Given the description of an element on the screen output the (x, y) to click on. 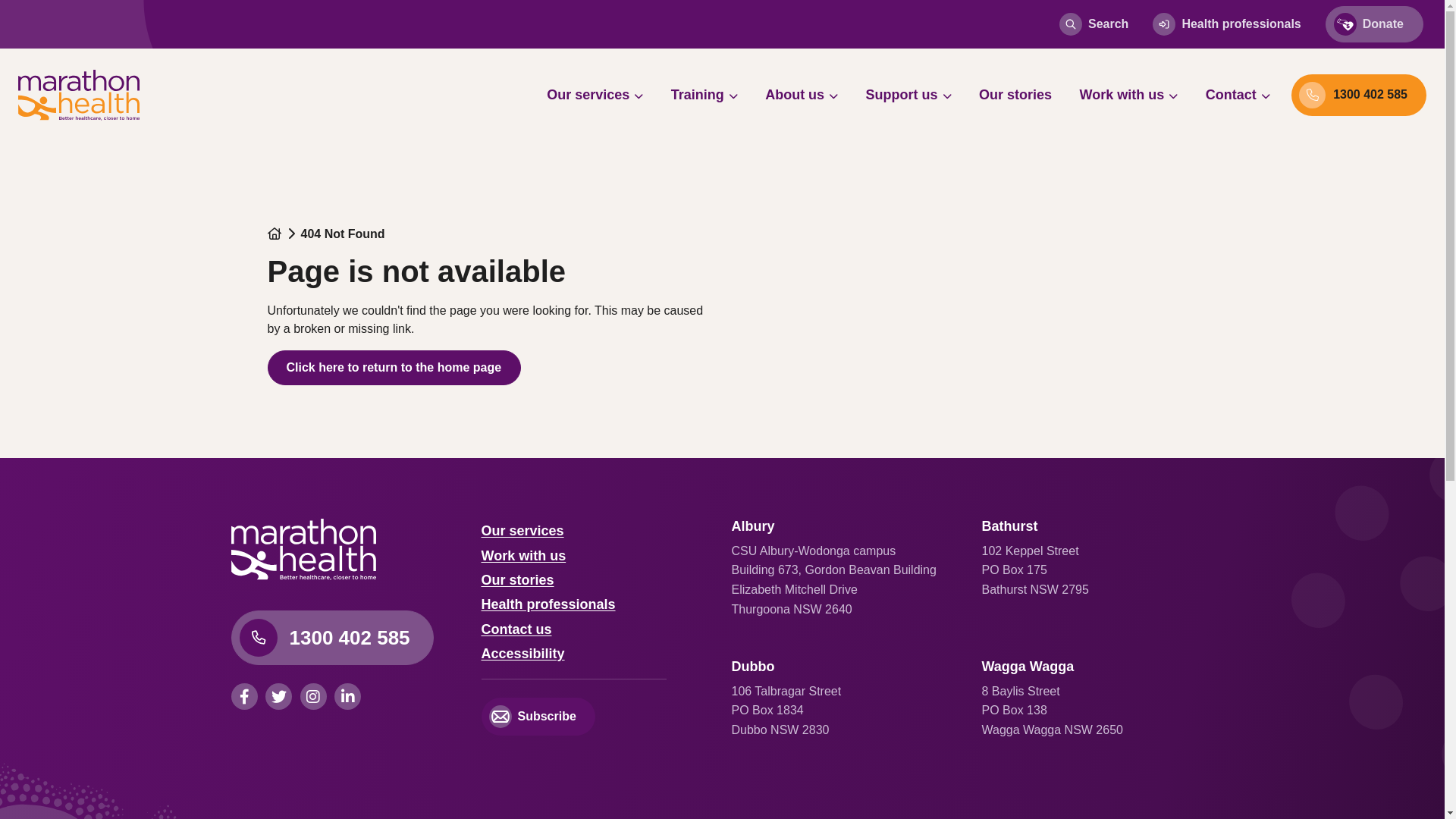
Click here to return to the home page Element type: text (393, 367)
Our stories Element type: text (516, 579)
Our services Element type: text (594, 94)
1300 402 585 Element type: text (331, 637)
Support us Element type: text (908, 94)
Contact Element type: text (1237, 94)
Work with us Element type: text (522, 555)
1300 402 585 Element type: text (1358, 95)
Donate Element type: text (1374, 24)
Our services Element type: text (521, 530)
Health professionals Element type: text (1226, 23)
Health professionals Element type: text (547, 603)
Work with us Element type: text (1128, 94)
Subscribe Element type: text (537, 716)
Our stories Element type: text (1014, 94)
Contact us Element type: text (515, 629)
Accessibility Element type: text (522, 653)
Training Element type: text (703, 94)
About us Element type: text (801, 94)
